Given the description of an element on the screen output the (x, y) to click on. 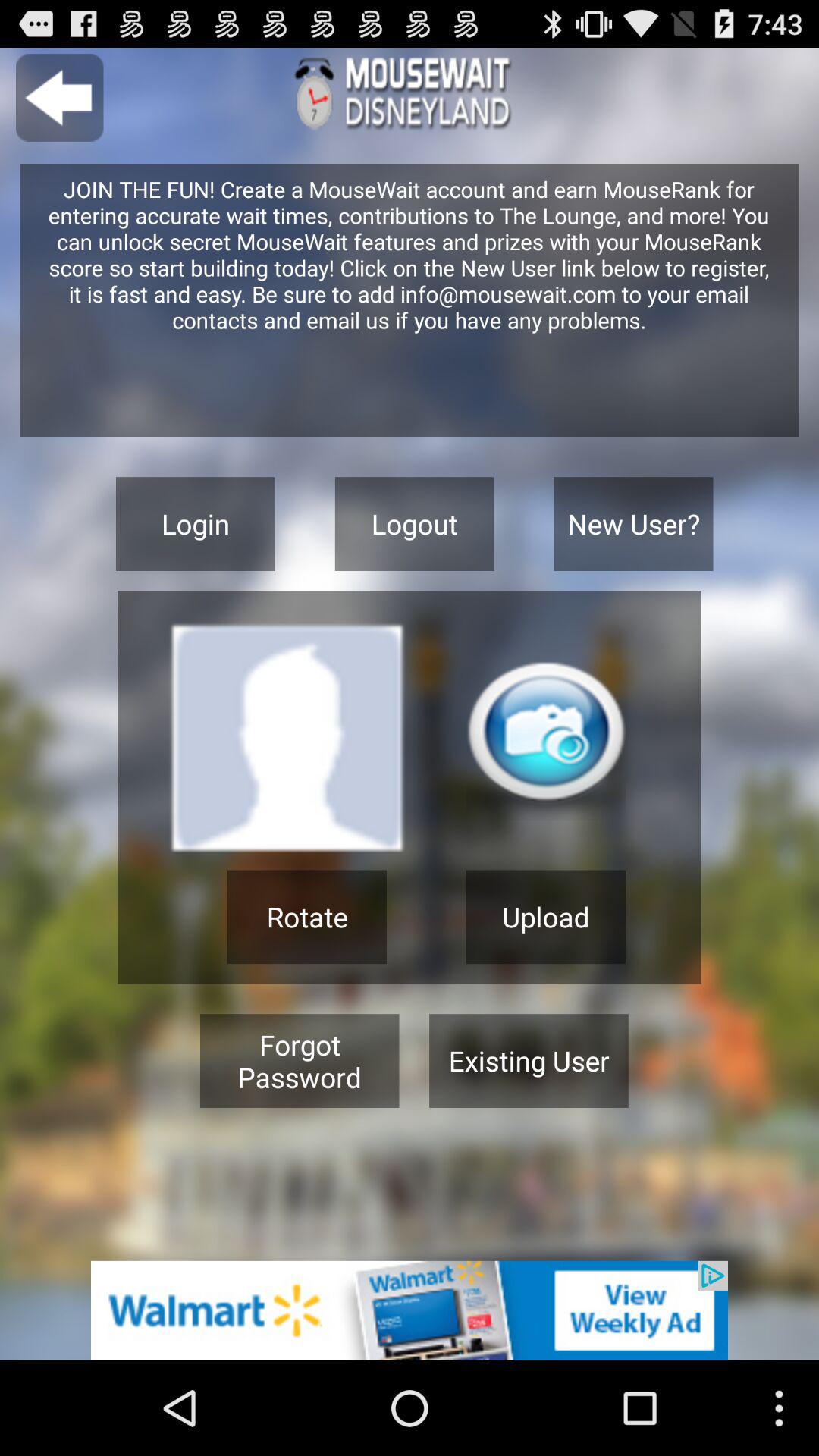
upload photo (545, 740)
